Given the description of an element on the screen output the (x, y) to click on. 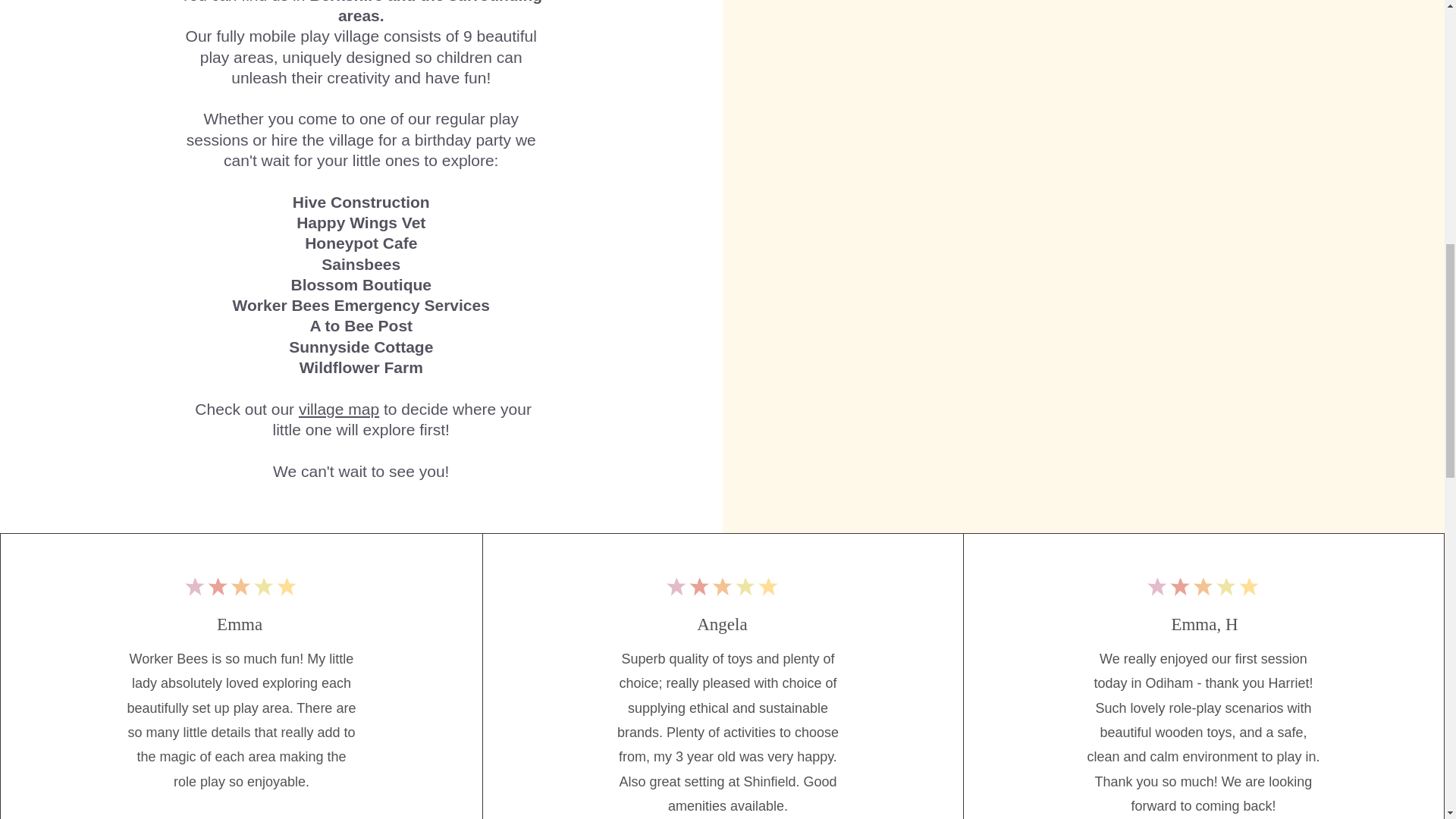
village map (338, 408)
